Given the description of an element on the screen output the (x, y) to click on. 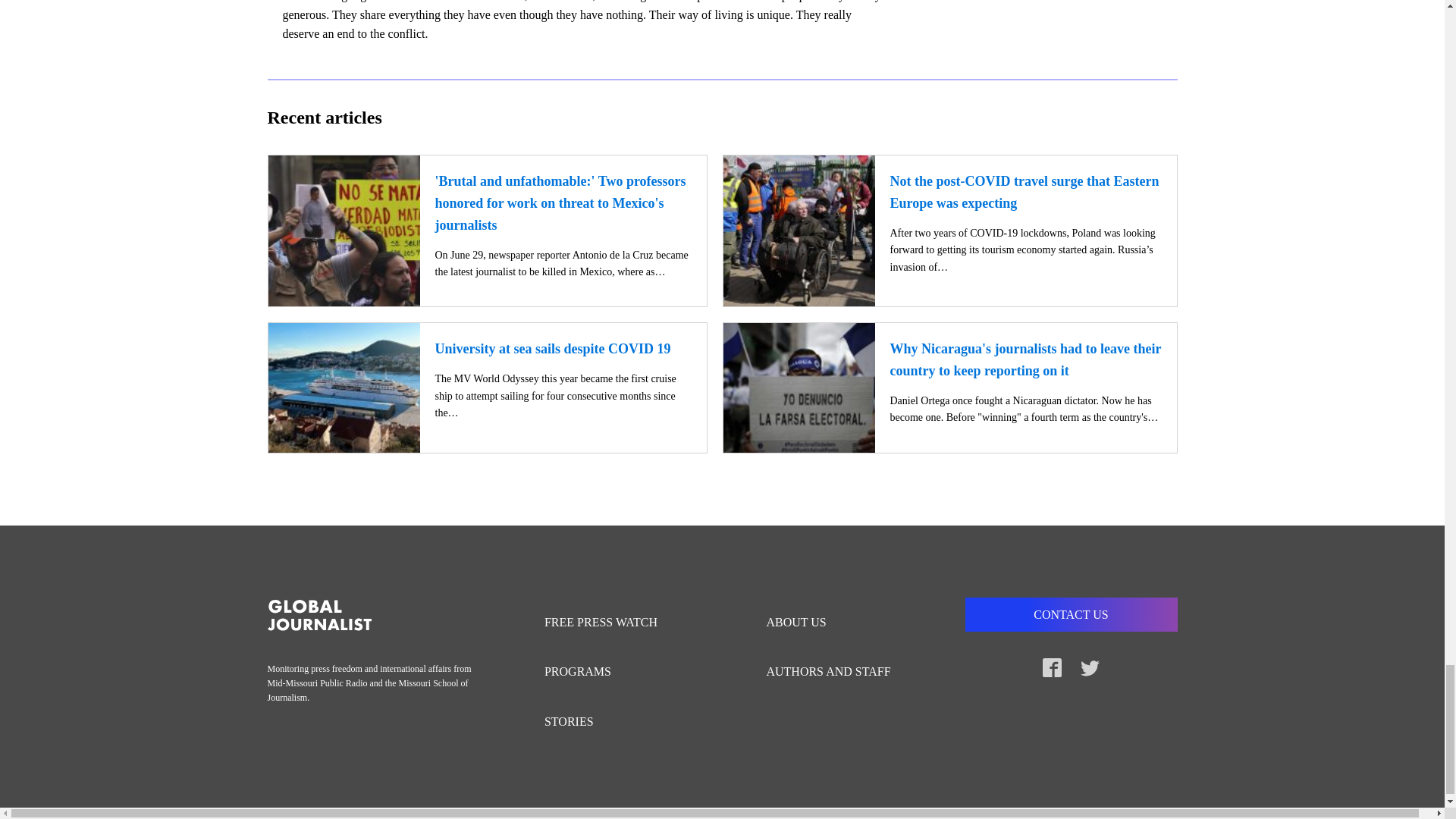
University at sea sails despite COVID 19 (553, 348)
CONTACT US (1069, 614)
PROGRAMS (608, 671)
STORIES (608, 721)
AUTHORS AND STAFF (835, 671)
ABOUT US (835, 622)
FREE PRESS WATCH (608, 622)
